Given the description of an element on the screen output the (x, y) to click on. 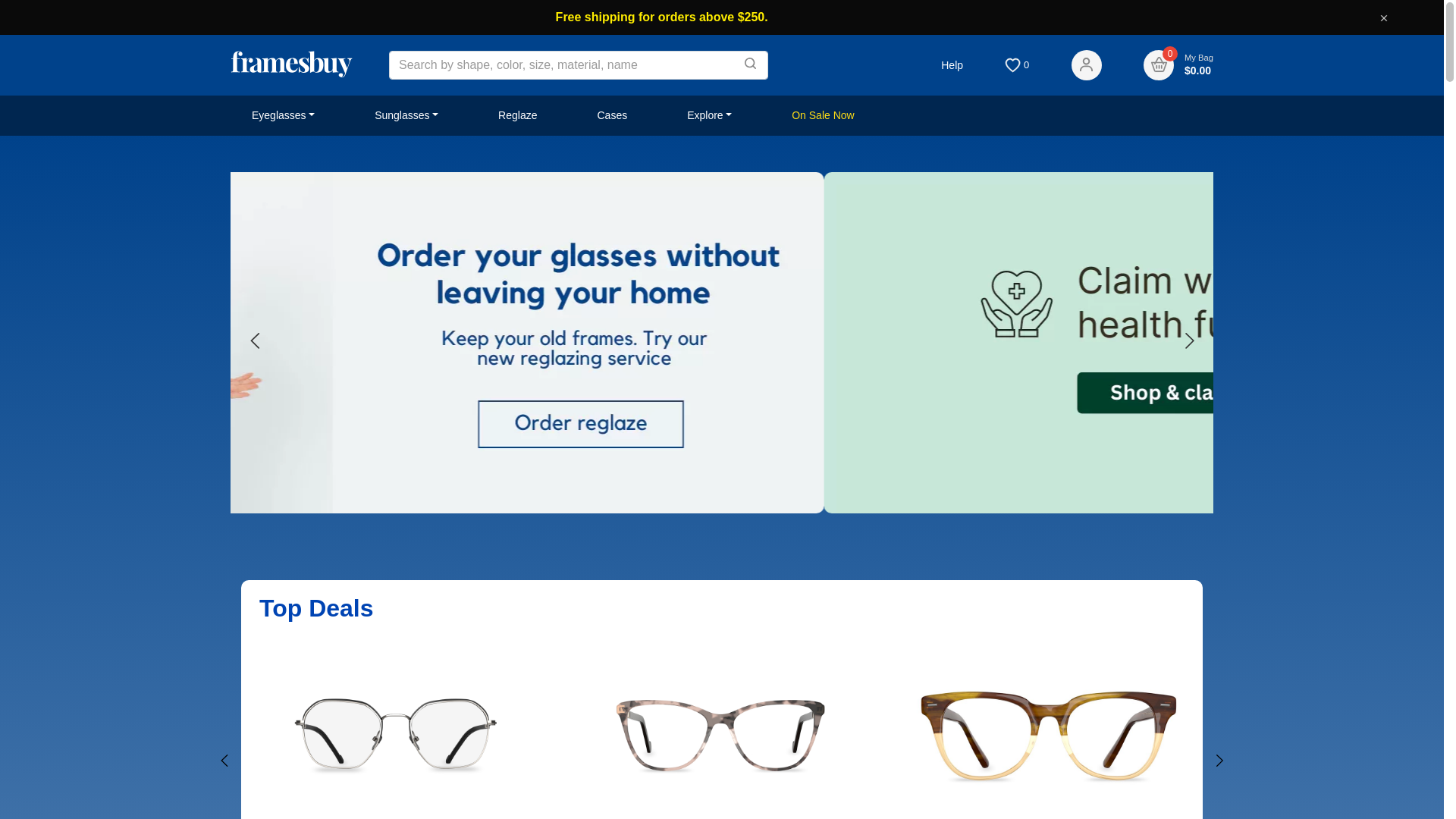
0
My Bag
$0.00 Element type: text (1178, 65)
On Sale Now Element type: text (822, 115)
Eyeglasses Element type: text (282, 115)
Explore Element type: text (708, 115)
Help Element type: text (952, 65)
Sunglasses Element type: text (406, 115)
0 Element type: text (1016, 64)
Reglaze Element type: text (517, 115)
Cases Element type: text (611, 115)
